Given the description of an element on the screen output the (x, y) to click on. 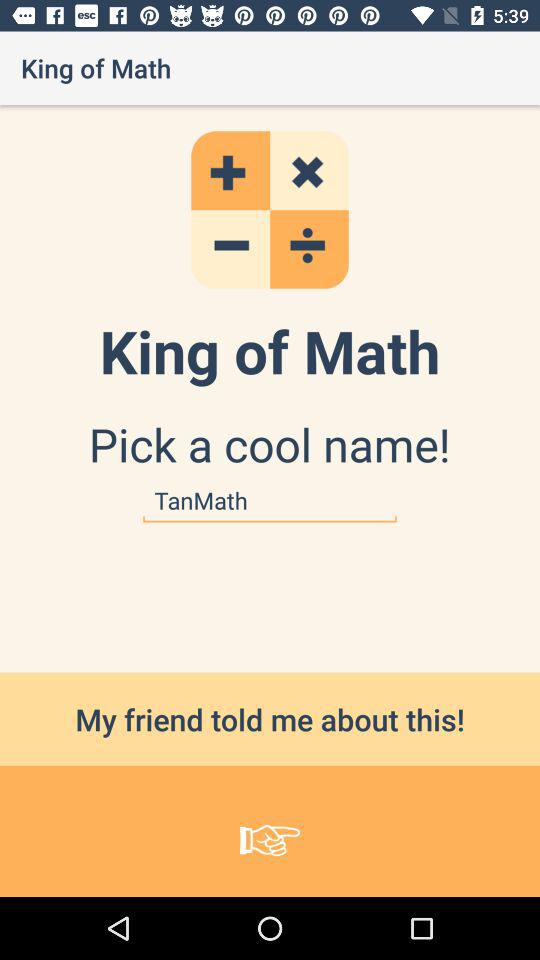
turn on the item below the pick a cool item (269, 500)
